Given the description of an element on the screen output the (x, y) to click on. 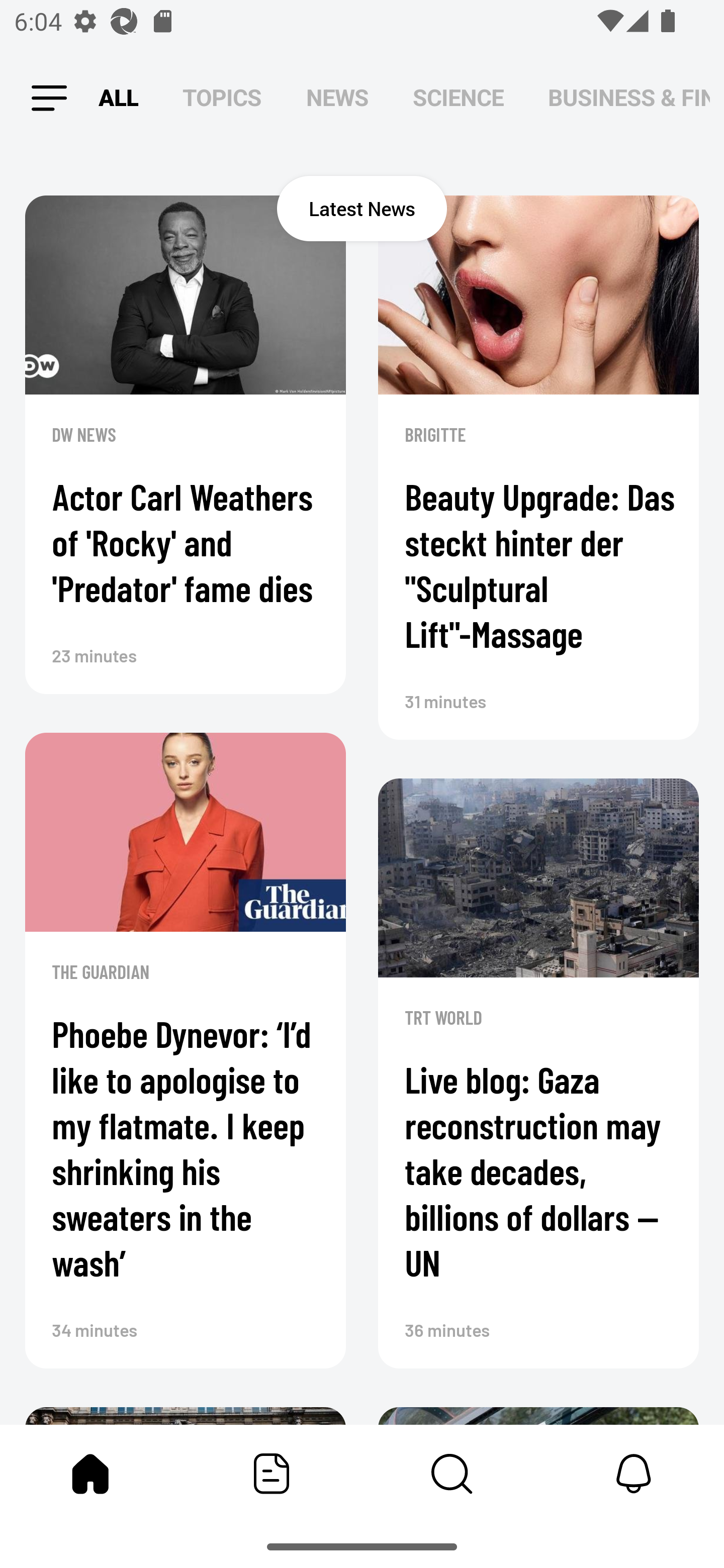
Leading Icon (49, 98)
TOPICS (222, 97)
NEWS (337, 97)
SCIENCE (457, 97)
BUSINESS & FINANCE (629, 97)
Latest News (361, 208)
Featured (271, 1473)
Content Store (452, 1473)
Notifications (633, 1473)
